Given the description of an element on the screen output the (x, y) to click on. 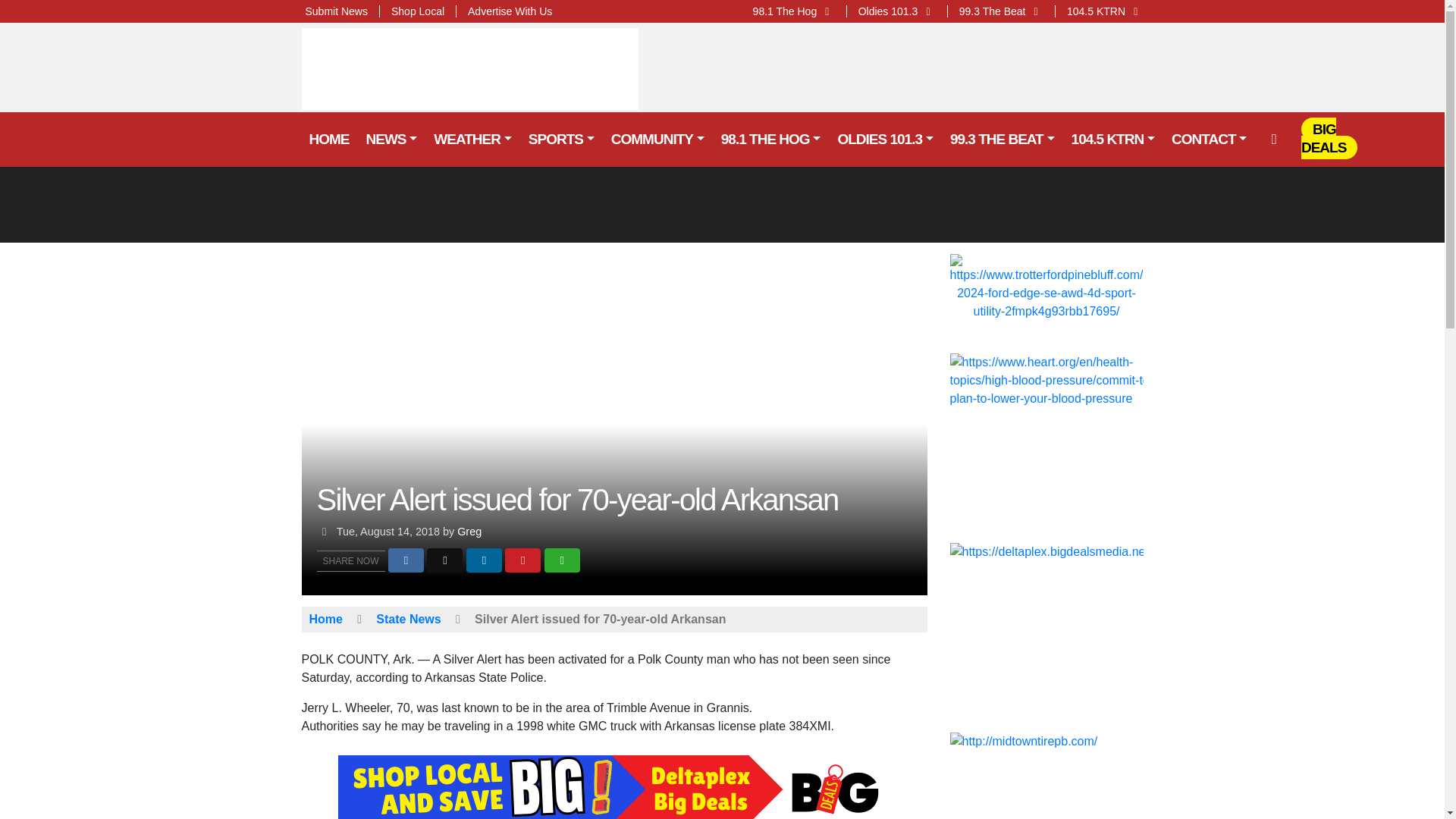
Posts by Greg (469, 531)
Share to Pinterest (522, 559)
Share to X (444, 559)
Share to Facebook (405, 559)
Share to LinkedIn (483, 559)
